Given the description of an element on the screen output the (x, y) to click on. 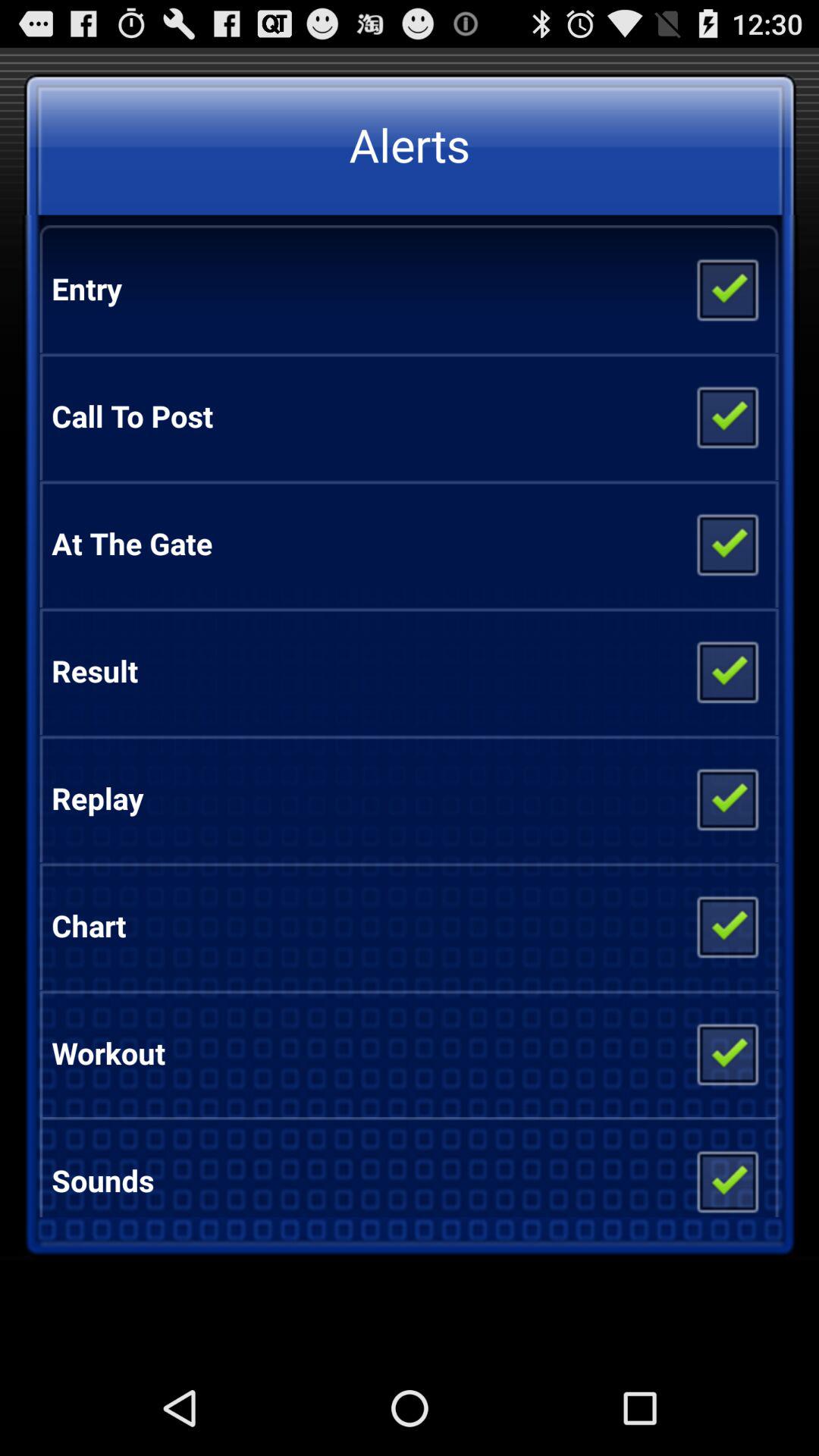
select alert (726, 925)
